Given the description of an element on the screen output the (x, y) to click on. 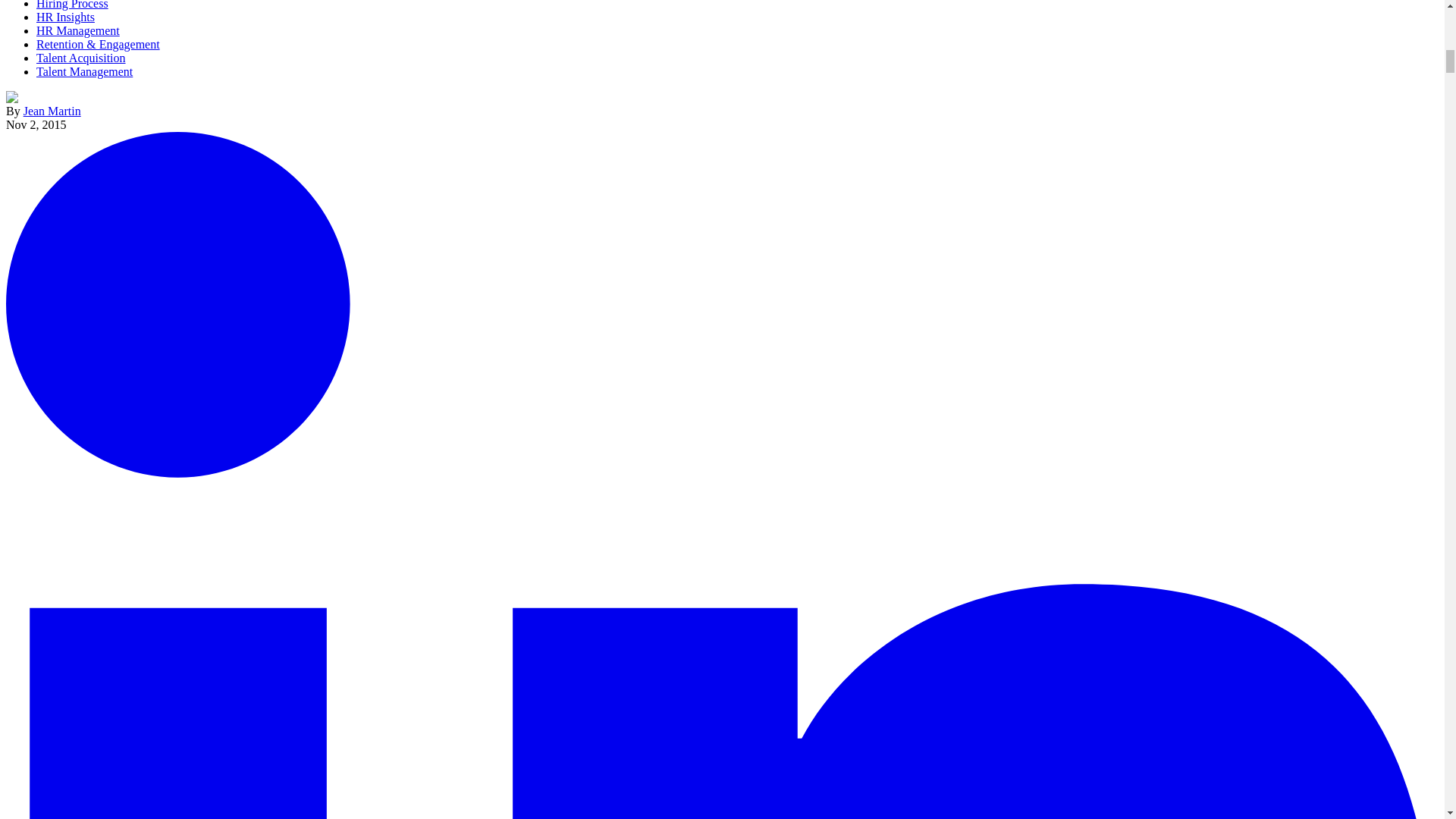
HR Management (77, 30)
Talent Acquisition (80, 57)
Jean Martin (52, 110)
Talent Management (84, 71)
HR Insights (65, 16)
Hiring Process (71, 4)
